Given the description of an element on the screen output the (x, y) to click on. 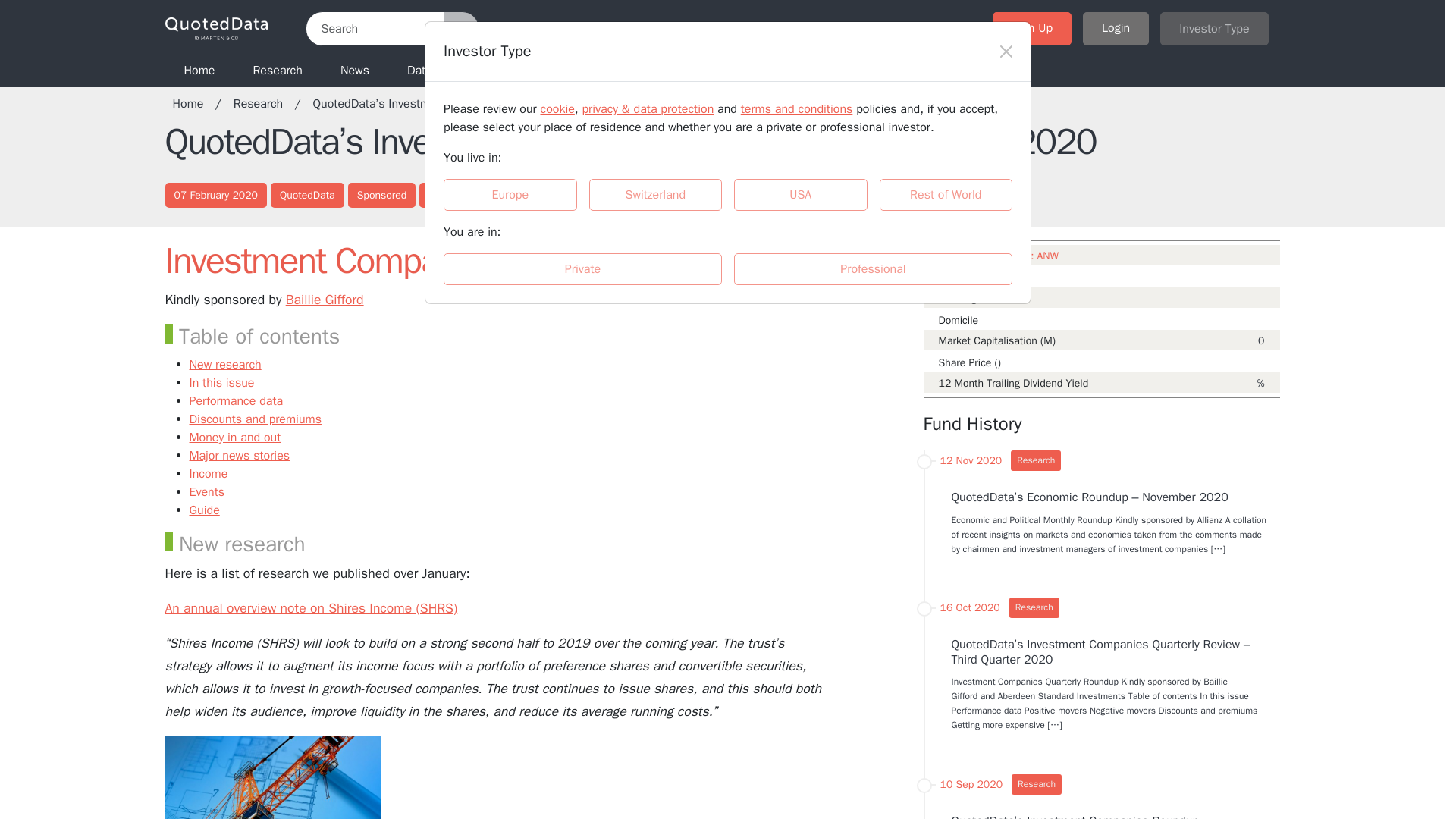
Research (264, 103)
Research (276, 70)
private (448, 257)
Investor Type (1214, 28)
usa (738, 184)
row (884, 184)
switzerland (593, 184)
News (354, 70)
Sign Up (1031, 28)
Login (1115, 28)
Home (199, 70)
Home (195, 103)
europe (448, 184)
professional (738, 257)
